Given the description of an element on the screen output the (x, y) to click on. 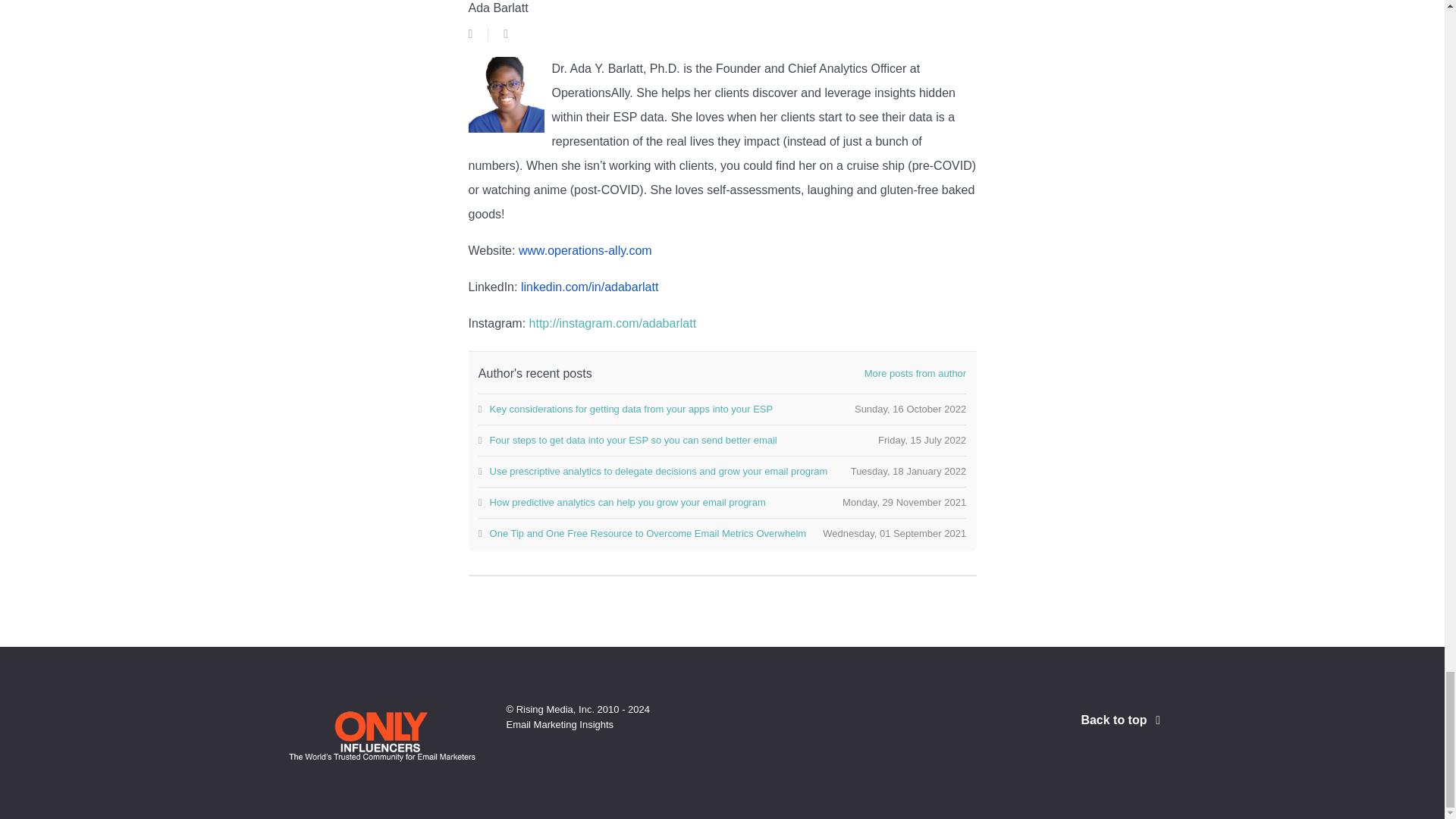
Back to top (1123, 719)
Subscribe to updates from author (470, 34)
